Given the description of an element on the screen output the (x, y) to click on. 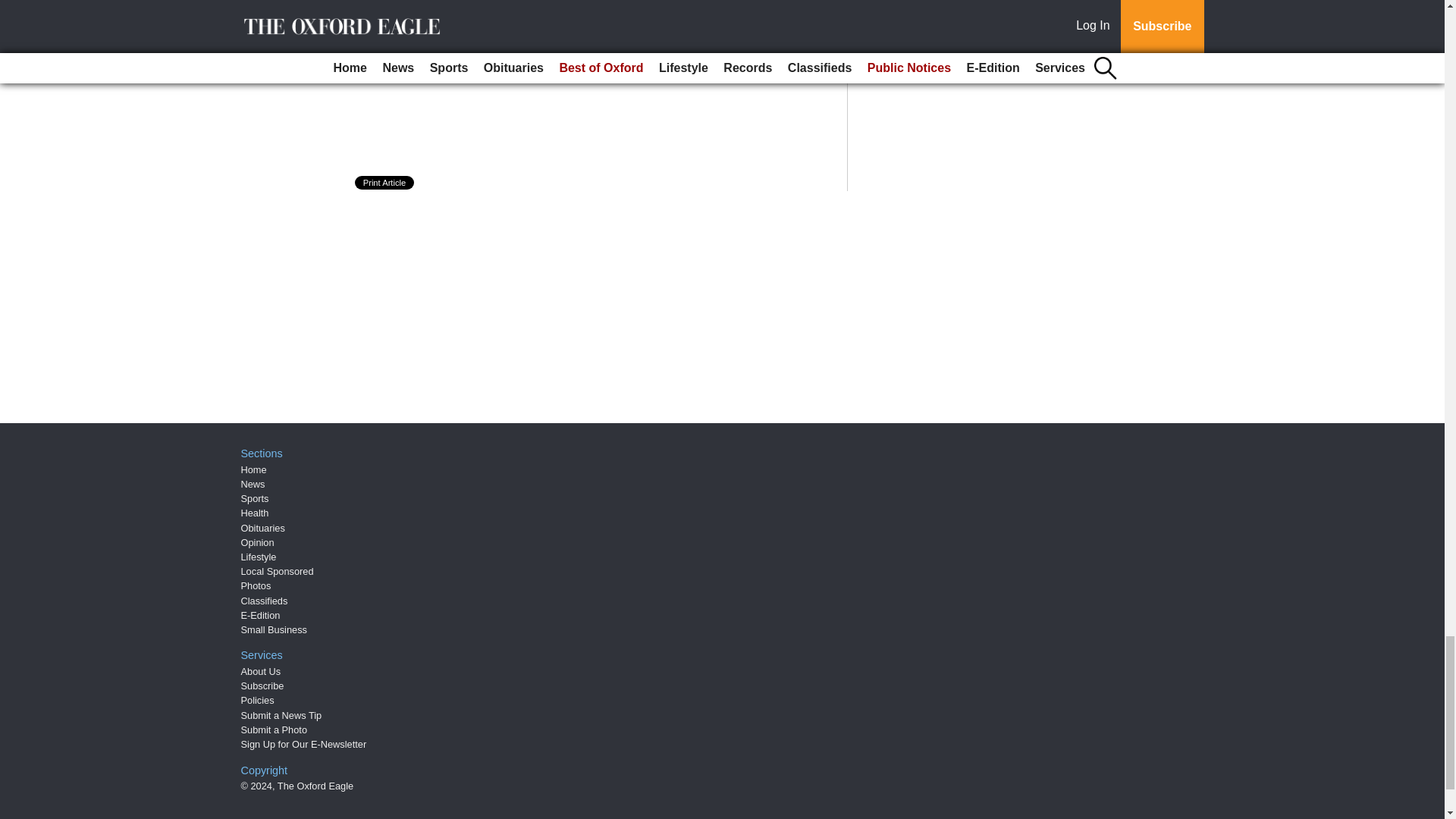
Abbeville native McEwen is going to Paris (494, 58)
Print Article (384, 182)
Abbeville native McEwen is going to Paris (494, 58)
